Given the description of an element on the screen output the (x, y) to click on. 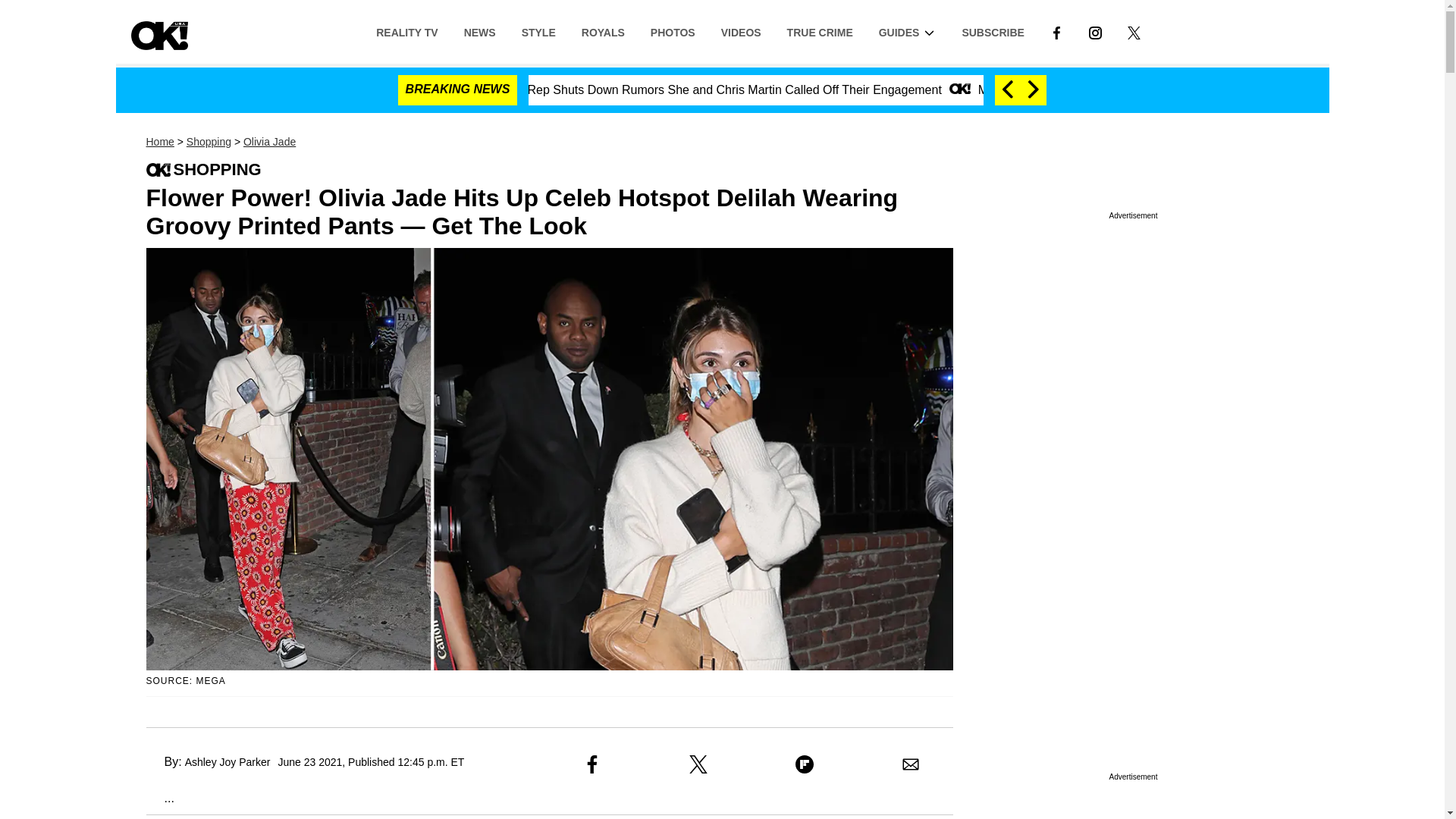
Ashley Joy Parker (227, 761)
LINK TO INSTAGRAM (1095, 32)
TRUE CRIME (820, 31)
Link to Instagram (1095, 31)
... (159, 797)
PHOTOS (672, 31)
Share to X (697, 764)
SUBSCRIBE (992, 31)
LINK TO FACEBOOK (1055, 32)
NEWS (479, 31)
